Given the description of an element on the screen output the (x, y) to click on. 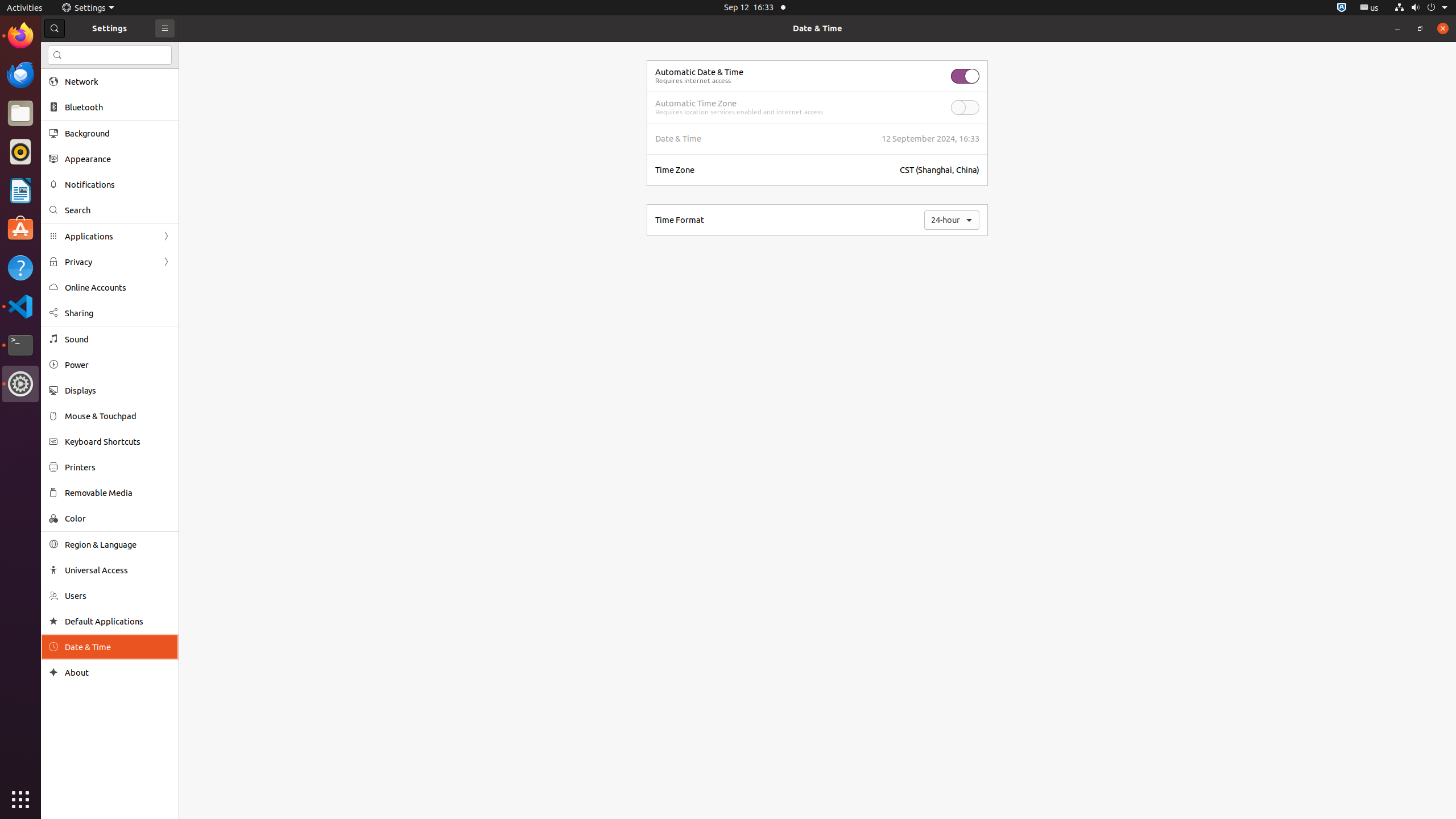
Color Element type: label (117, 518)
About Element type: icon (53, 672)
Time Format Element type: label (679, 219)
About Element type: label (117, 672)
Background Element type: label (117, 133)
